Given the description of an element on the screen output the (x, y) to click on. 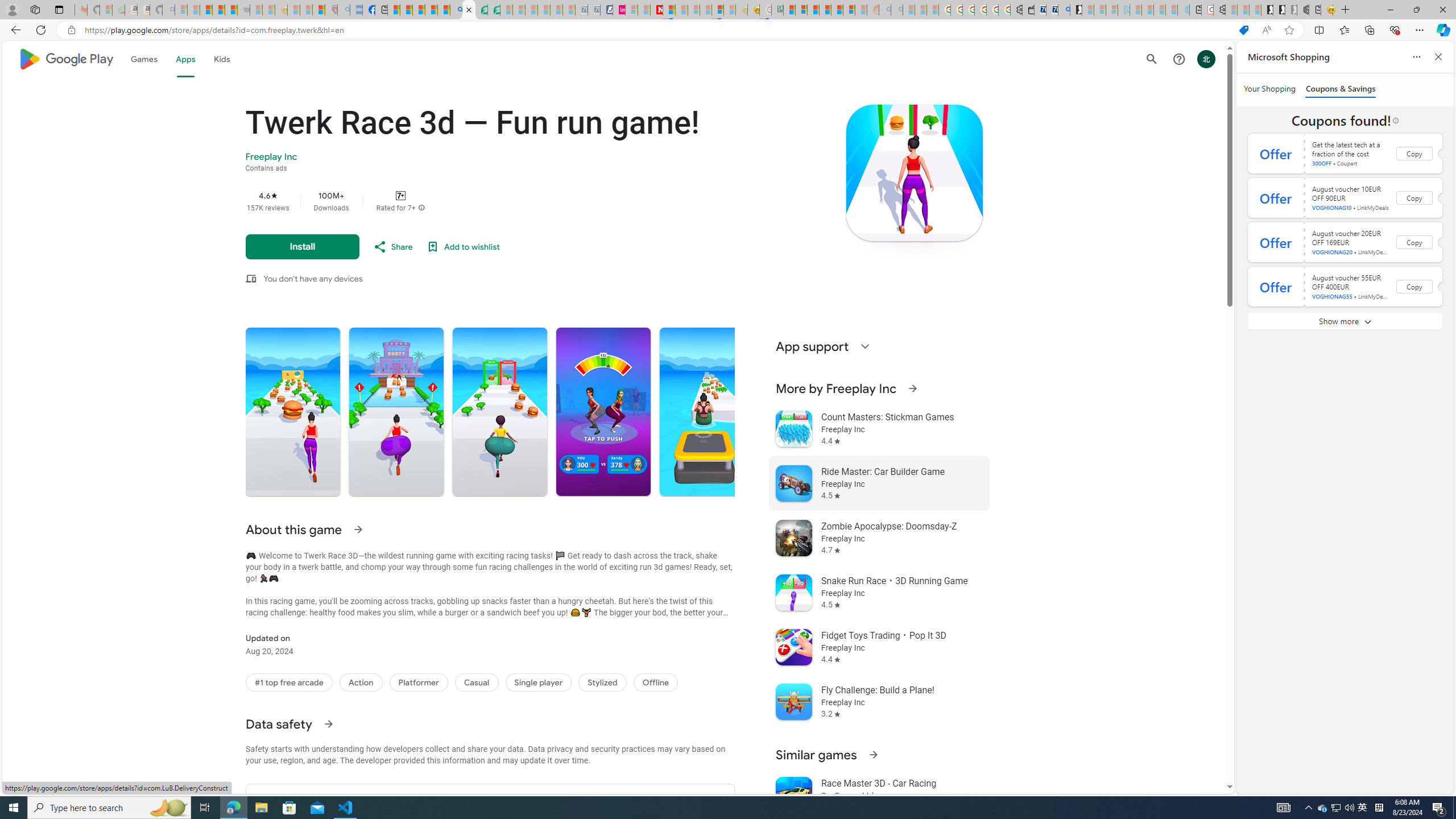
See more information on About this game (357, 528)
Add to wishlist (462, 246)
Terms of Use Agreement (481, 9)
Offline (655, 682)
